Given the description of an element on the screen output the (x, y) to click on. 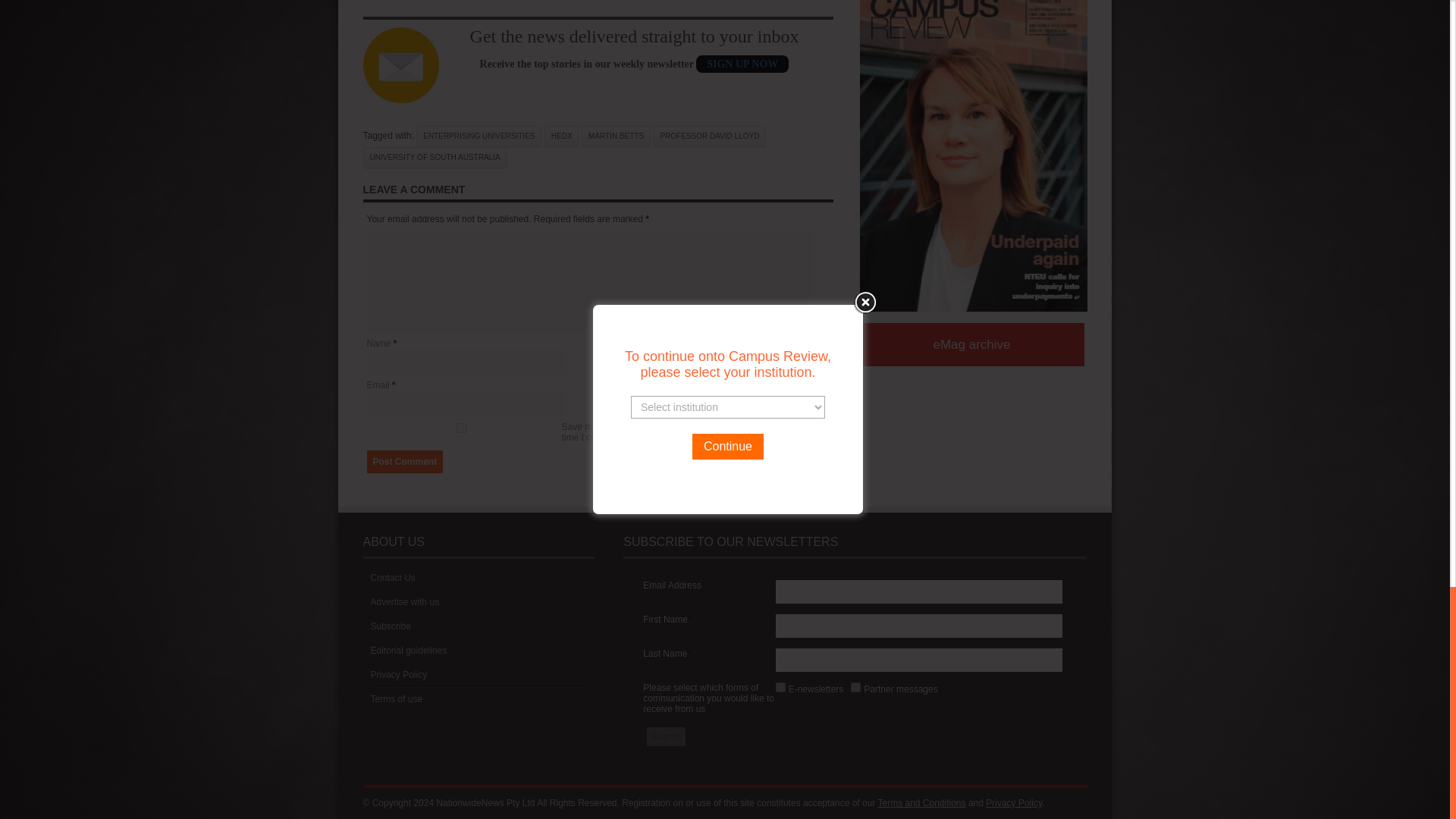
Submit (665, 736)
Campus Review vol 34. Issue 04 - July August 2024 (973, 156)
Post Comment (405, 461)
on (855, 687)
on (781, 687)
Submit (665, 736)
yes (461, 428)
